Given the description of an element on the screen output the (x, y) to click on. 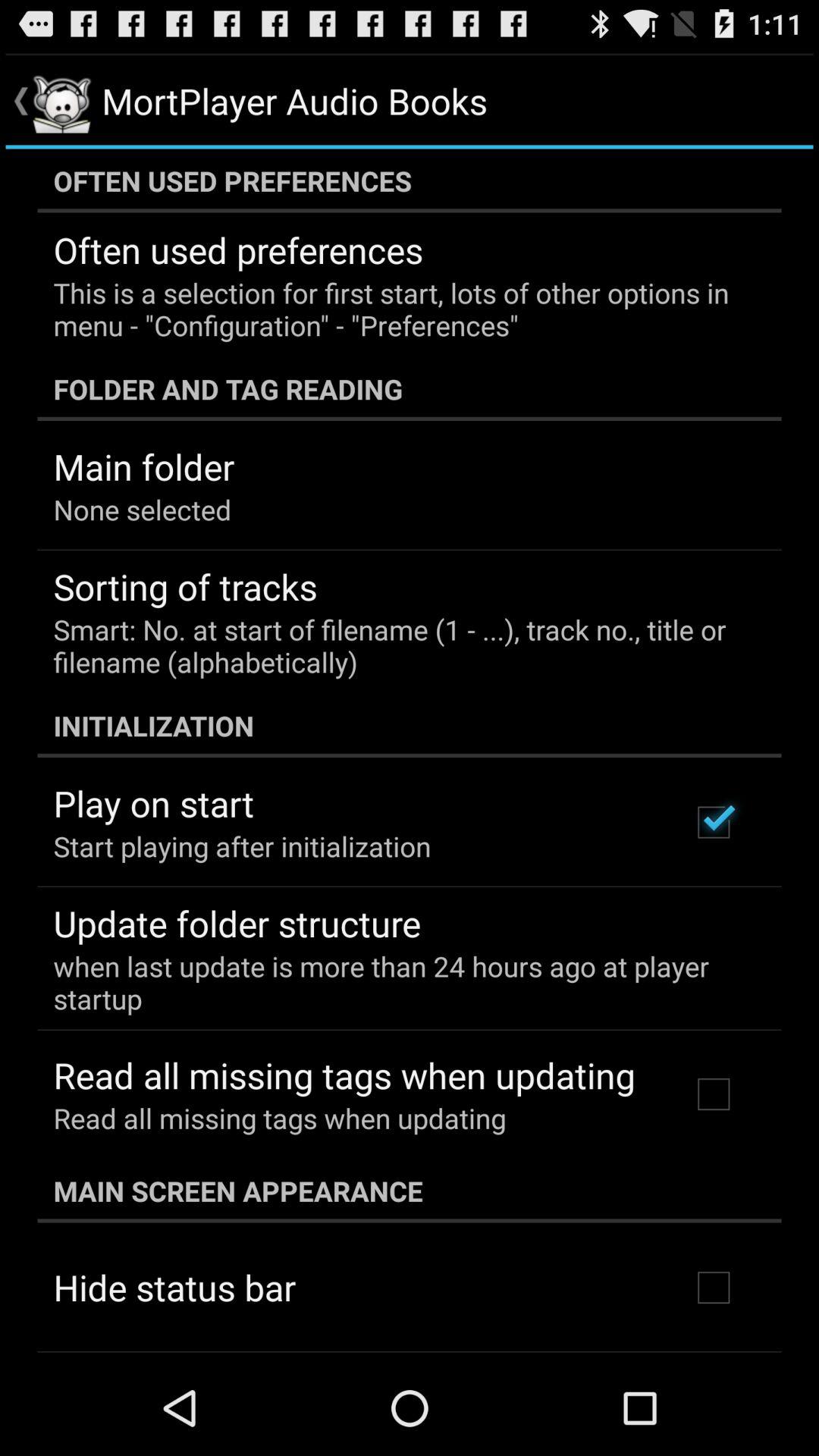
turn off the app below initialization app (153, 803)
